Given the description of an element on the screen output the (x, y) to click on. 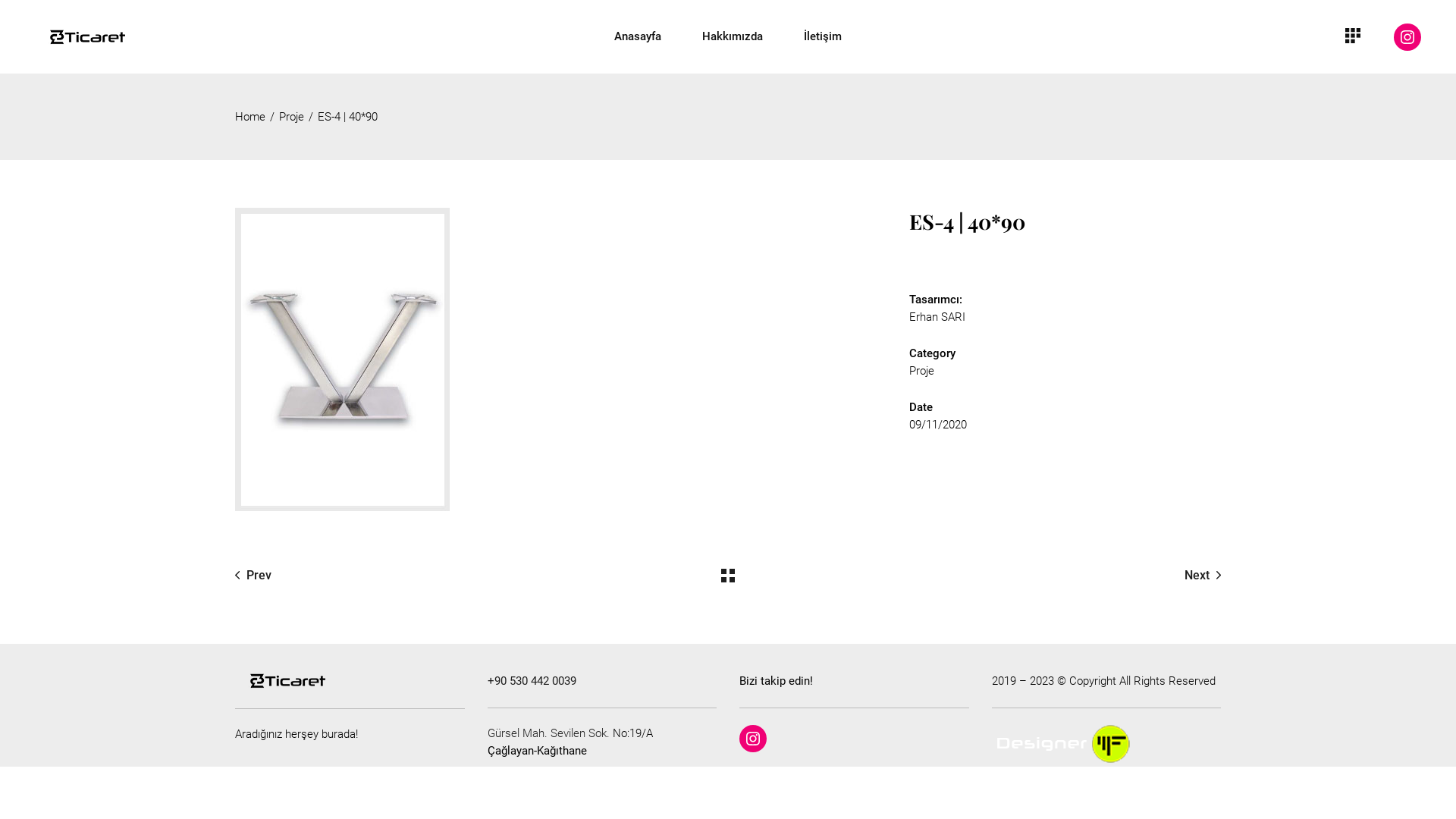
Anasayfa Element type: text (637, 36)
Proje Element type: text (291, 115)
Prev Element type: text (253, 574)
Next Element type: text (1202, 574)
Home Element type: text (250, 115)
ES4-1 Element type: hover (546, 359)
Proje Element type: text (921, 370)
+90 530 442 0039 Element type: text (530, 680)
